Given the description of an element on the screen output the (x, y) to click on. 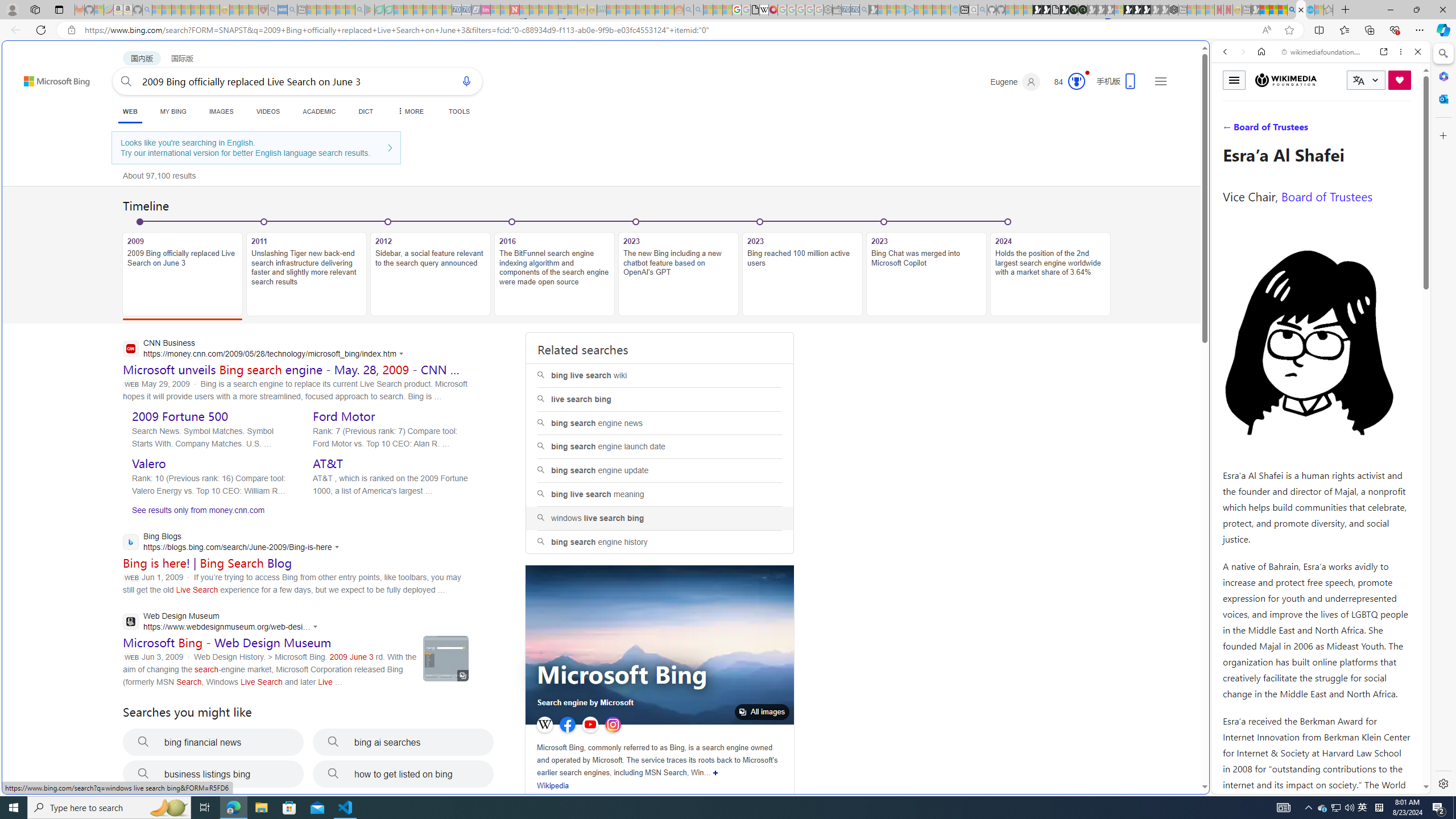
Web scope (1230, 102)
Utah sues federal government - Search - Sleeping (697, 9)
windows live search bing (659, 517)
Web Design Museum (223, 622)
DICT (365, 111)
Target page - Wikipedia (763, 9)
Terms of Use Agreement - Sleeping (378, 9)
Bing Blogs (233, 543)
Sign in to your account - Sleeping (1118, 9)
Wikimedia Foundation (1286, 79)
Class: b_serphb (1404, 130)
